Given the description of an element on the screen output the (x, y) to click on. 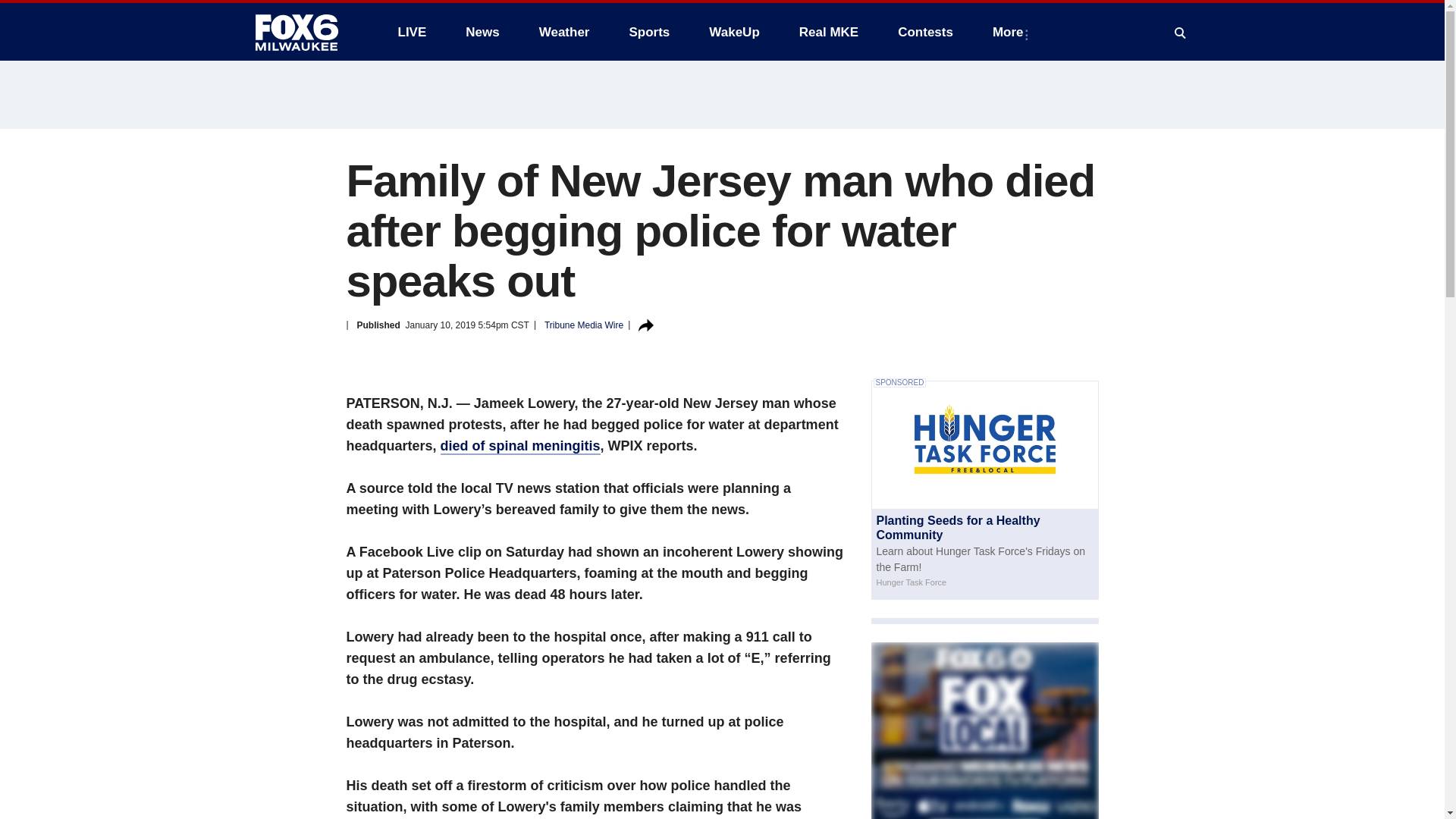
LIVE (411, 32)
Weather (564, 32)
Sports (648, 32)
More (1010, 32)
Real MKE (828, 32)
Contests (925, 32)
News (481, 32)
WakeUp (734, 32)
